Given the description of an element on the screen output the (x, y) to click on. 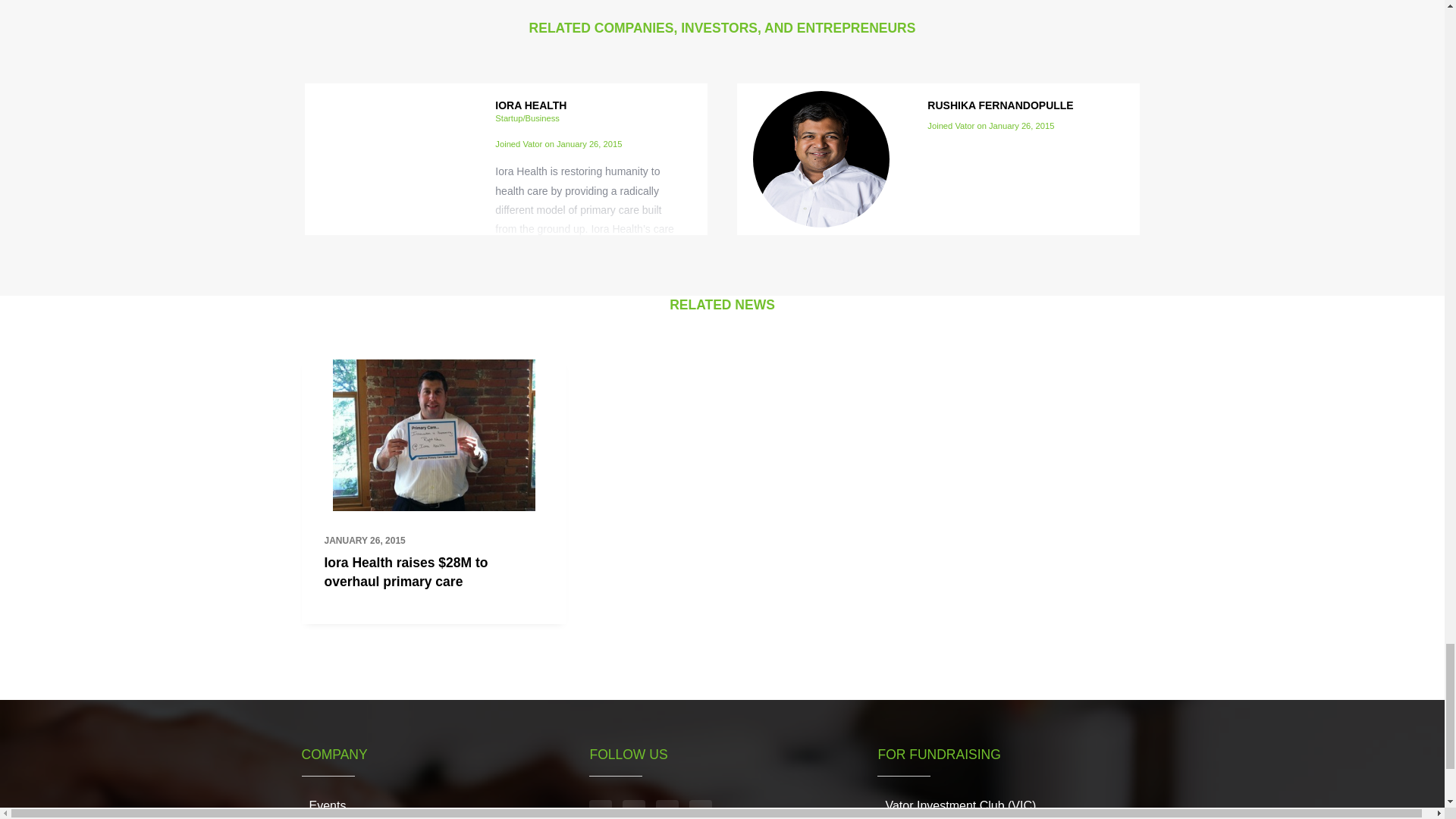
IORA HEALTH (530, 104)
